Given the description of an element on the screen output the (x, y) to click on. 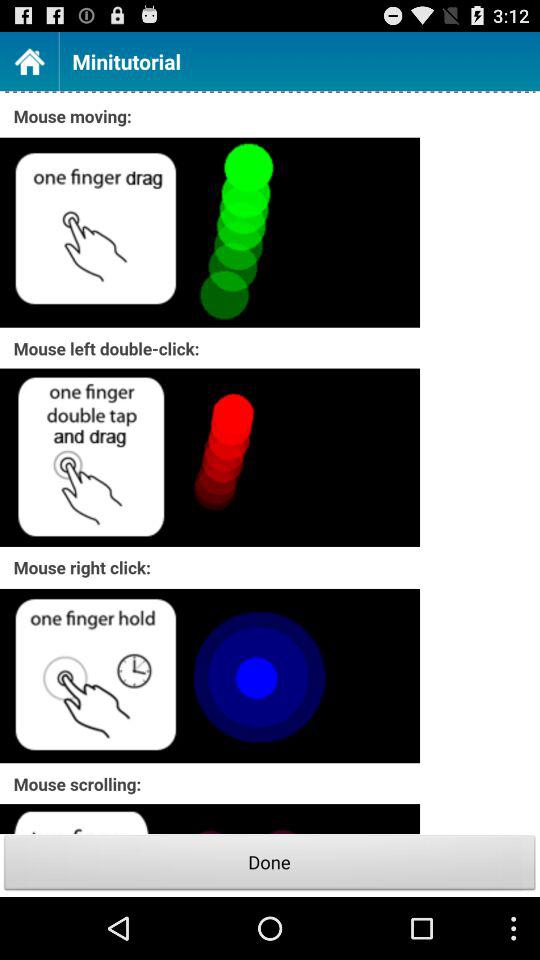
go to home (29, 60)
